Given the description of an element on the screen output the (x, y) to click on. 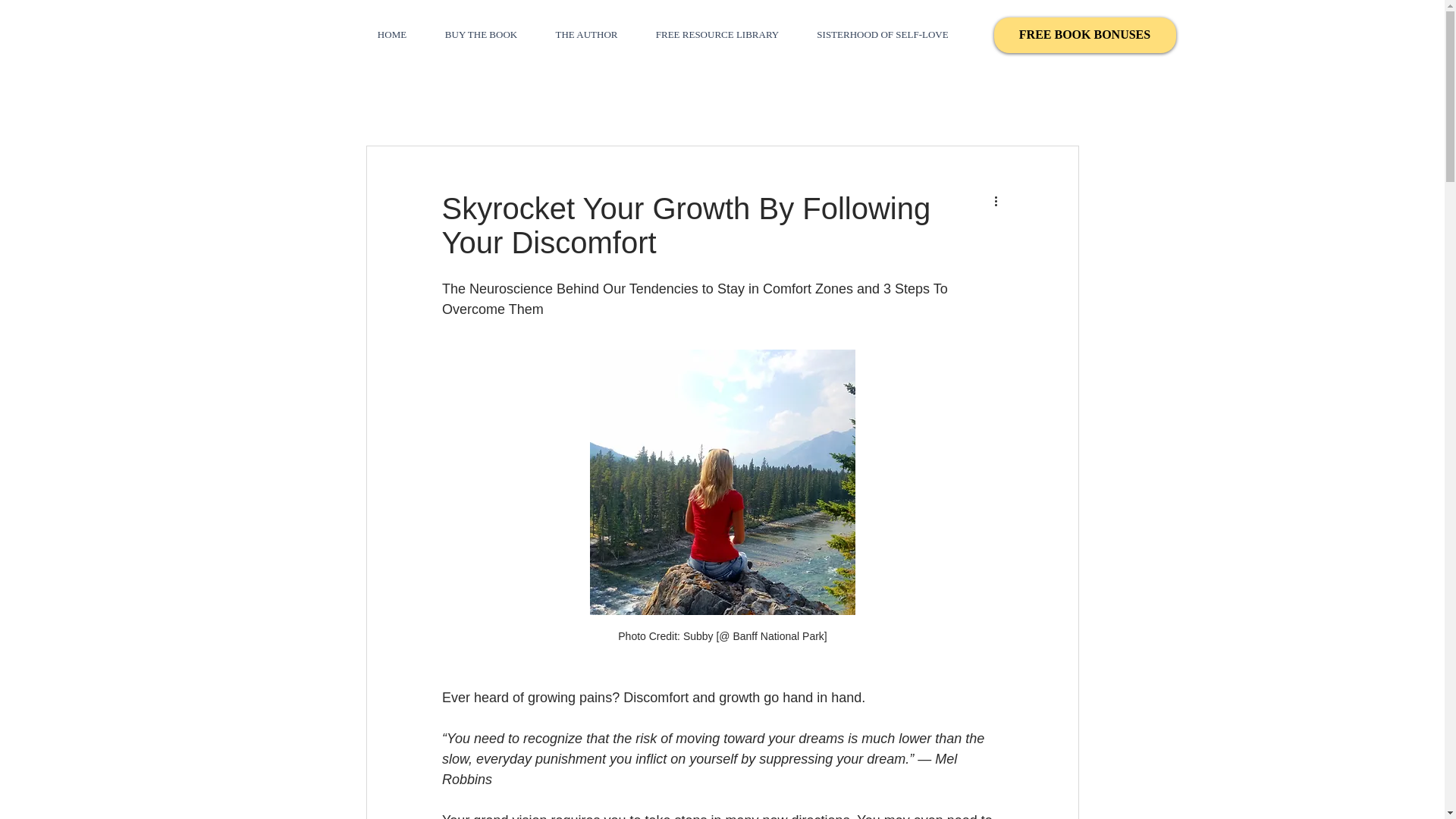
HOME (391, 34)
THE AUTHOR (587, 34)
SISTERHOOD OF SELF-LOVE (881, 34)
FREE BOOK BONUSES (1083, 35)
BUY THE BOOK (481, 34)
FREE RESOURCE LIBRARY (717, 34)
